Given the description of an element on the screen output the (x, y) to click on. 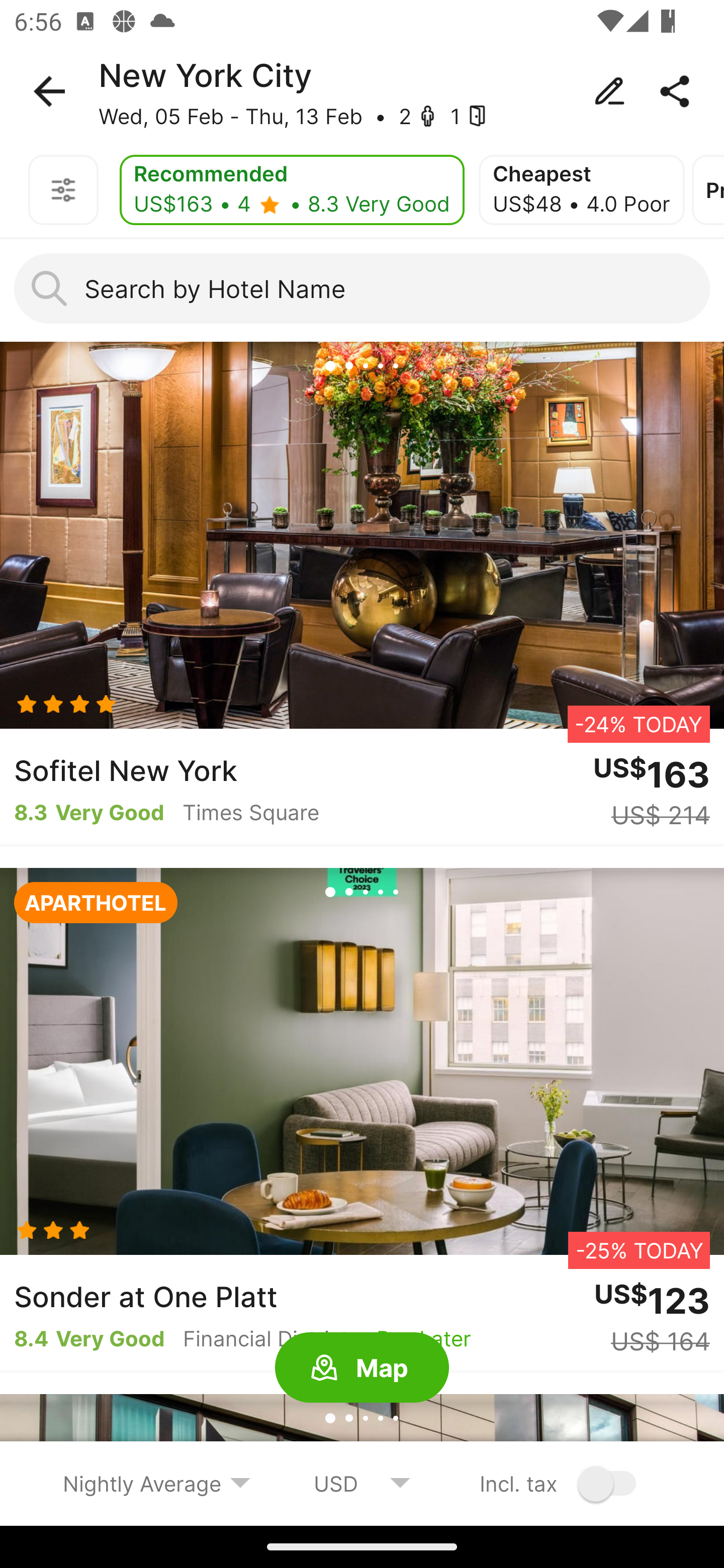
Recommended  US$163  • 4 - • 8.3 Very Good (291, 190)
Cheapest US$48  • 4.0 Poor (581, 190)
Search by Hotel Name  (361, 288)
Map  (361, 1367)
Nightly Average (156, 1482)
USD (361, 1482)
